Given the description of an element on the screen output the (x, y) to click on. 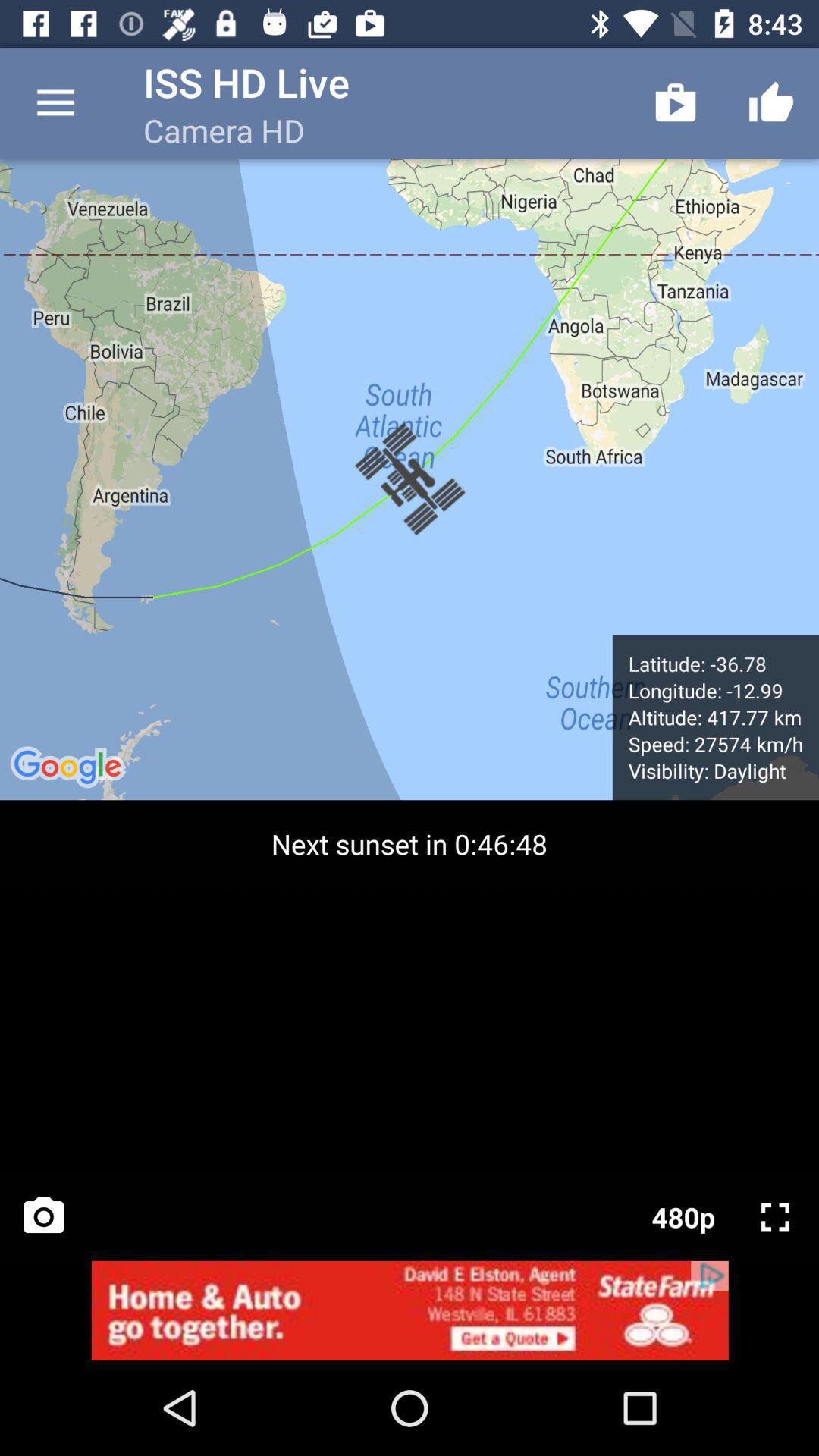
advertisement page (409, 1310)
